Given the description of an element on the screen output the (x, y) to click on. 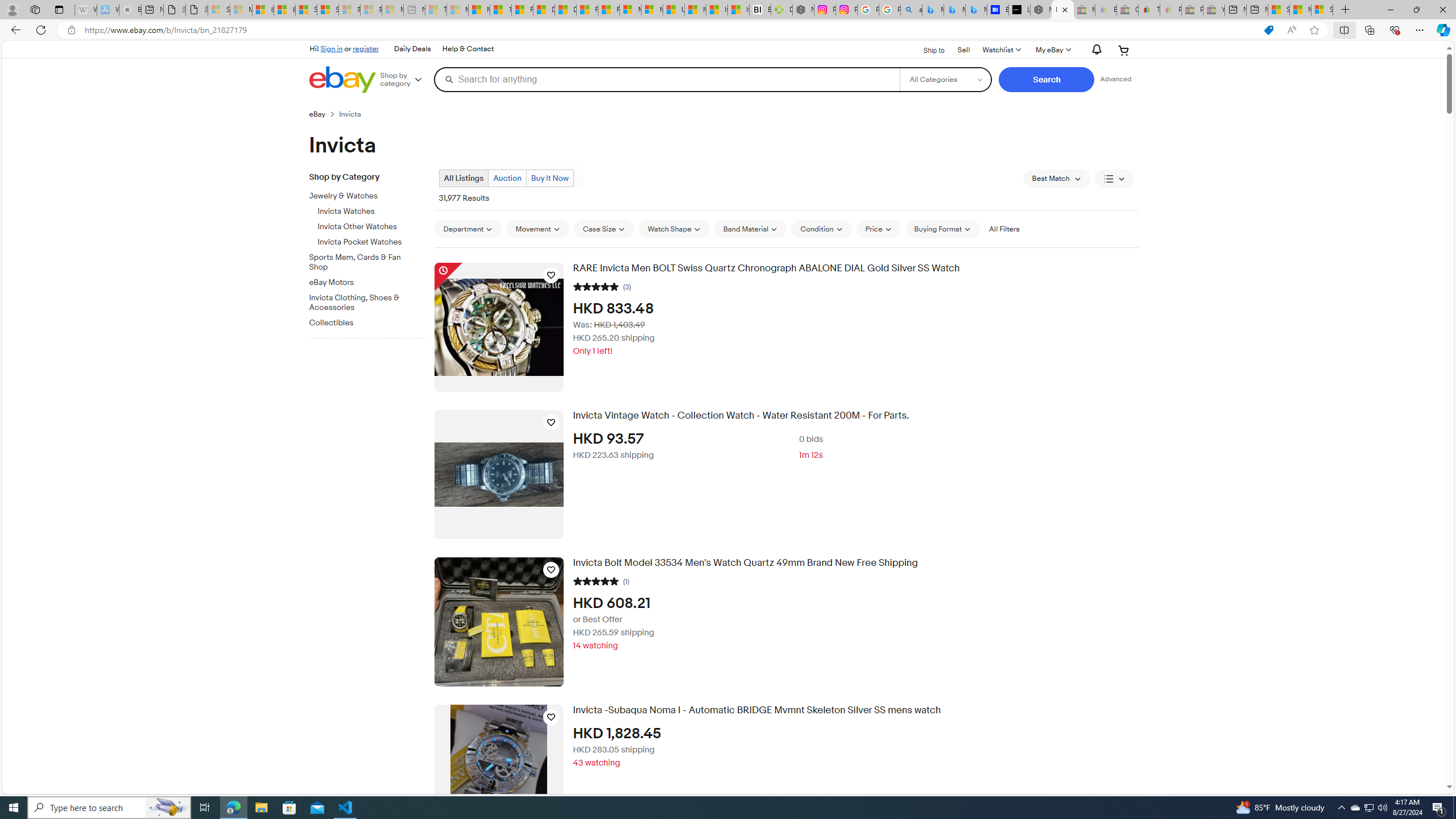
Jewelry & Watches (362, 196)
eBay Home (341, 79)
Movement (537, 229)
Foo BAR | Trusted Community Engagement and Contributions (608, 9)
Movement (537, 229)
Buy It Now (549, 178)
